Given the description of an element on the screen output the (x, y) to click on. 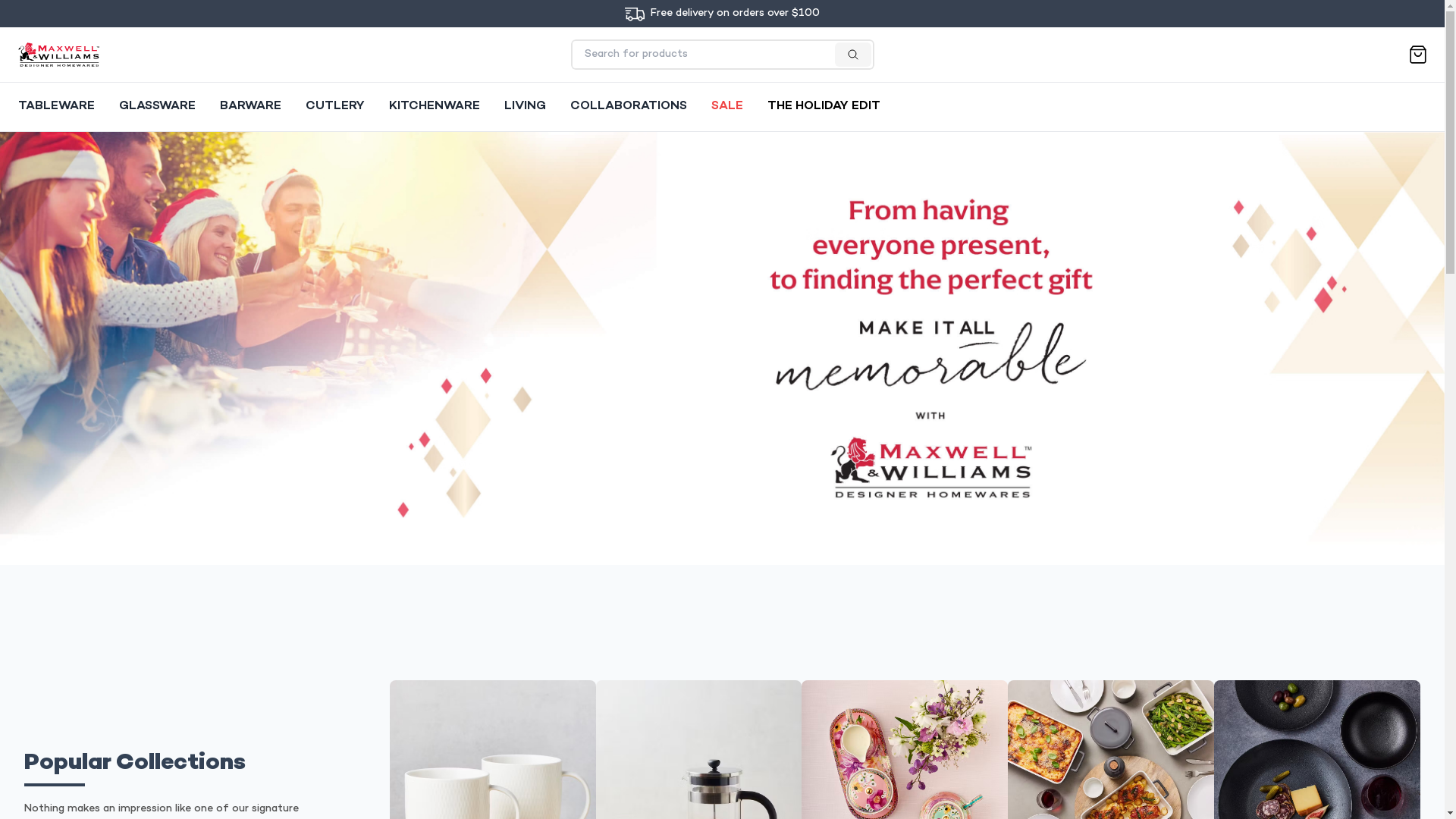
Search Element type: text (590, 48)
COLLABORATIONS Element type: text (628, 106)
CUTLERY Element type: text (334, 106)
BARWARE Element type: text (250, 106)
LIVING Element type: text (525, 106)
KITCHENWARE Element type: text (434, 106)
TABLEWARE Element type: text (56, 106)
GLASSWARE Element type: text (157, 106)
THE HOLIDAY EDIT Element type: text (823, 106)
SALE Element type: text (727, 106)
